Given the description of an element on the screen output the (x, y) to click on. 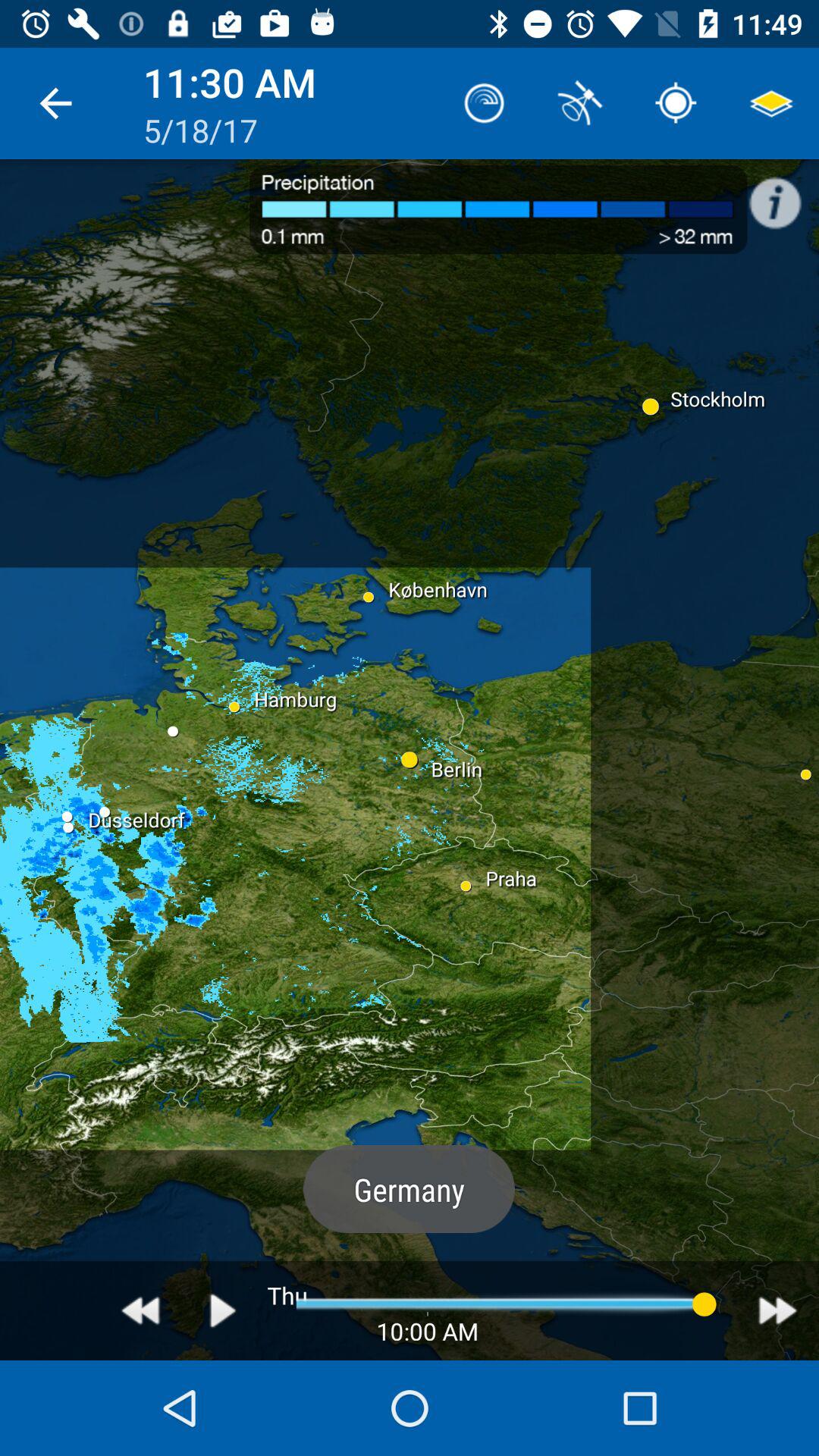
start time-lapse (223, 1310)
